Given the description of an element on the screen output the (x, y) to click on. 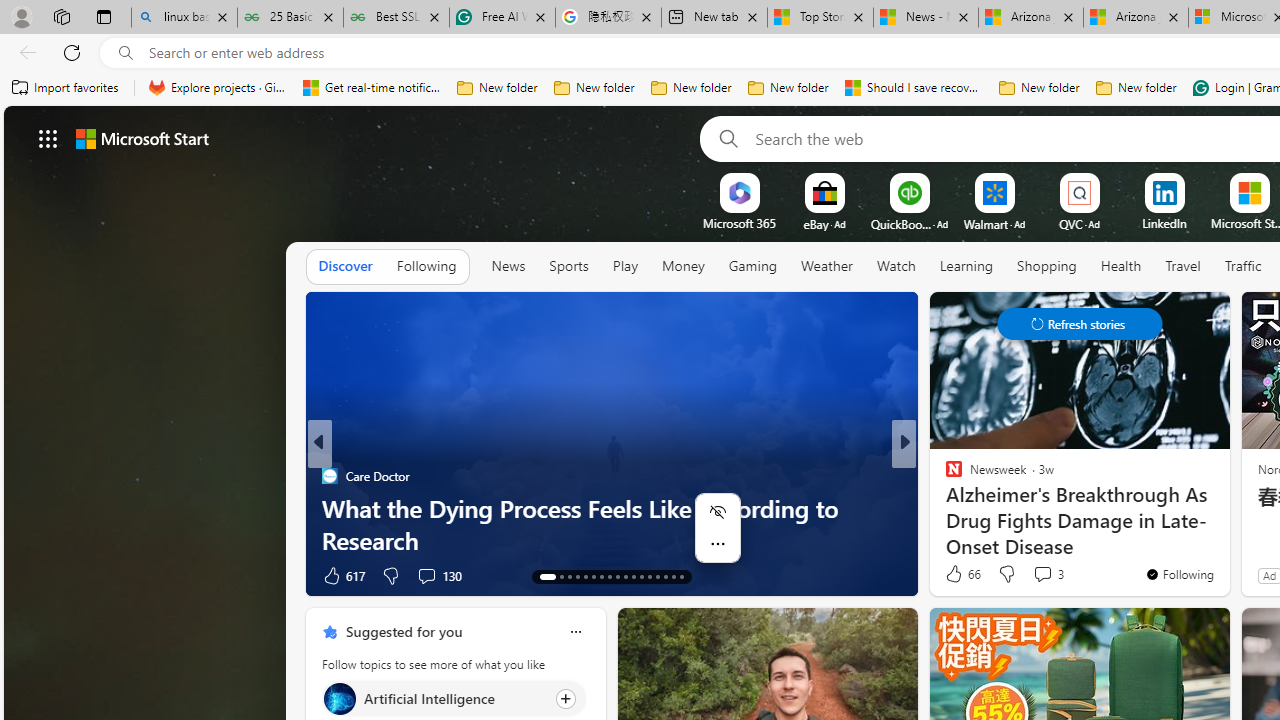
25 Basic Linux Commands For Beginners - GeeksforGeeks (290, 17)
AutomationID: tab-28 (673, 576)
AutomationID: tab-25 (649, 576)
Reader's Digest (944, 475)
View comments 26 Comment (1042, 575)
View comments 26 Comment (1051, 574)
View comments 16 Comment (1042, 575)
TechRadar (944, 507)
AutomationID: tab-16 (577, 576)
AutomationID: tab-19 (600, 576)
Should I save recovered Word documents? - Microsoft Support (913, 88)
